Given the description of an element on the screen output the (x, y) to click on. 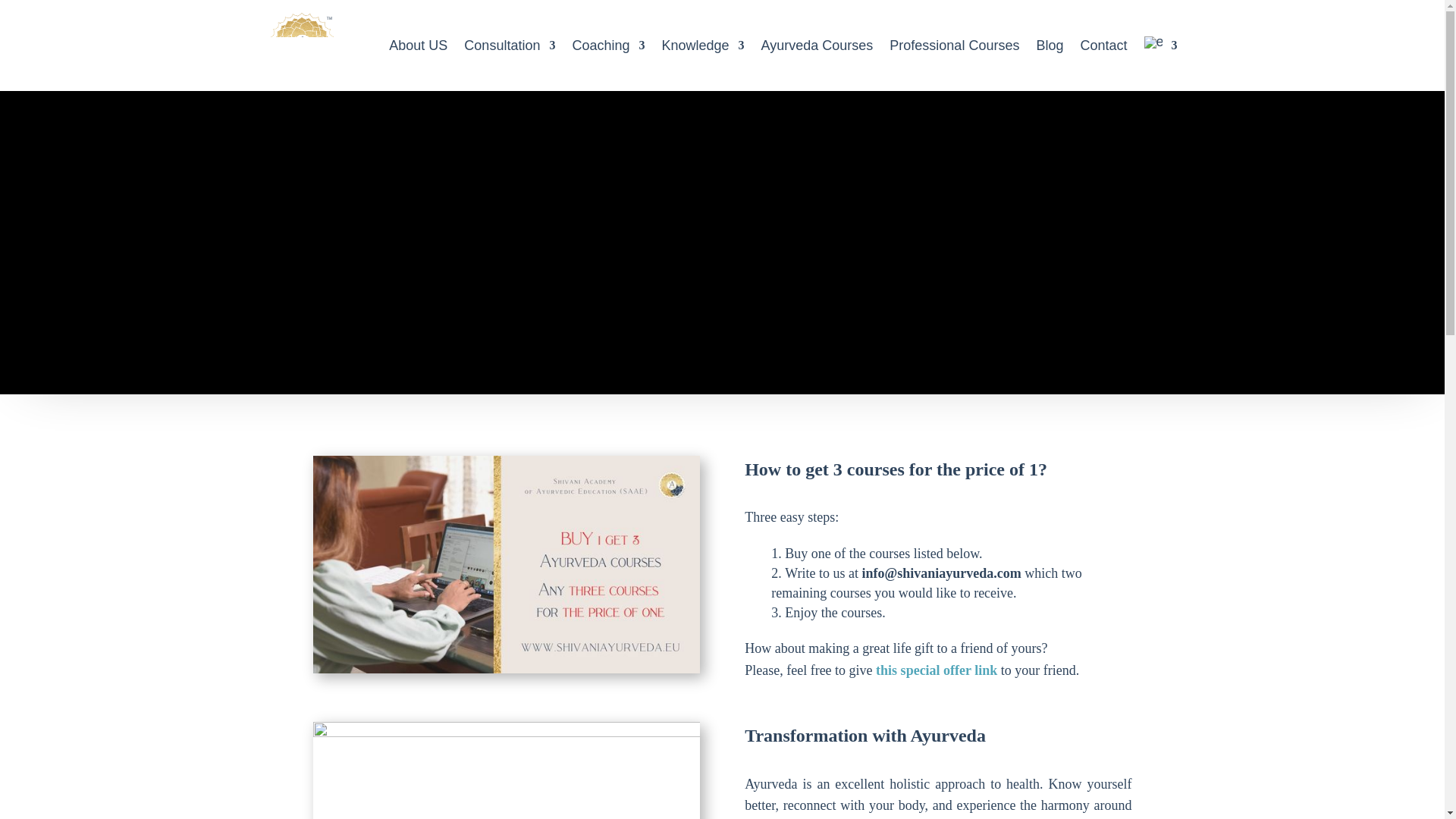
this special offer link (936, 670)
Ayurveda-courses-Buy-1-Get-3 (505, 564)
Online Platform Headers (505, 770)
Professional Courses (954, 45)
Knowledge (702, 45)
Consultation (509, 45)
Ayurveda Courses (817, 45)
Coaching (608, 45)
